Given the description of an element on the screen output the (x, y) to click on. 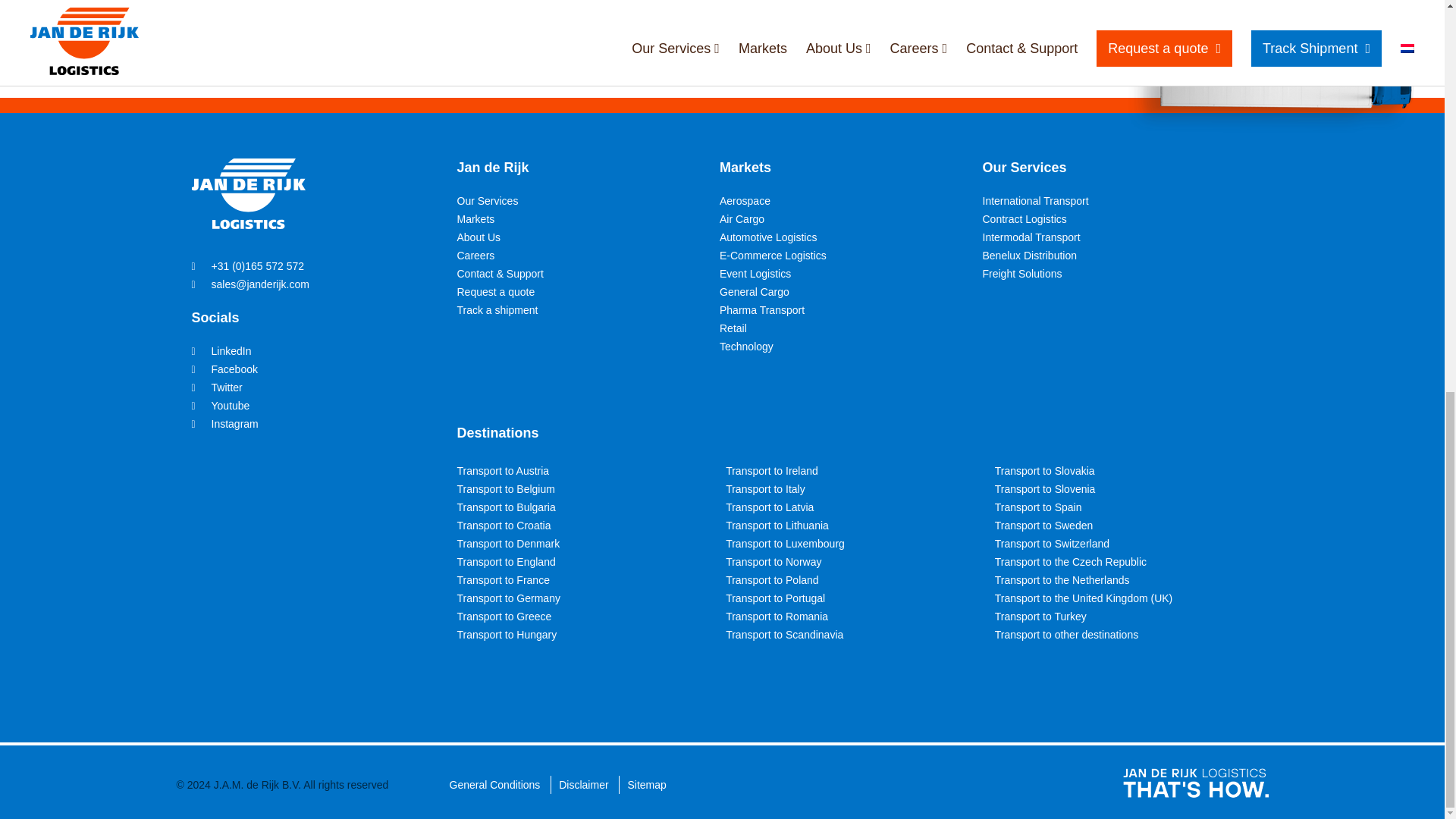
Fred Westdijk announced as new CEO of Jan de Rijk Logistics (589, 33)
Youtube (219, 405)
Markets (476, 218)
Fred Westdijk announced as new CEO of Jan de Rijk Logistics (589, 33)
About Us (478, 236)
Facebook (223, 369)
LinkedIn (220, 350)
Twitter (215, 387)
Jan de Rijk (492, 167)
Our Services (487, 200)
CO2 emission reduction is not rocket science (894, 33)
CO2 emission reduction is not rocket science (894, 33)
Instagram (223, 423)
